Given the description of an element on the screen output the (x, y) to click on. 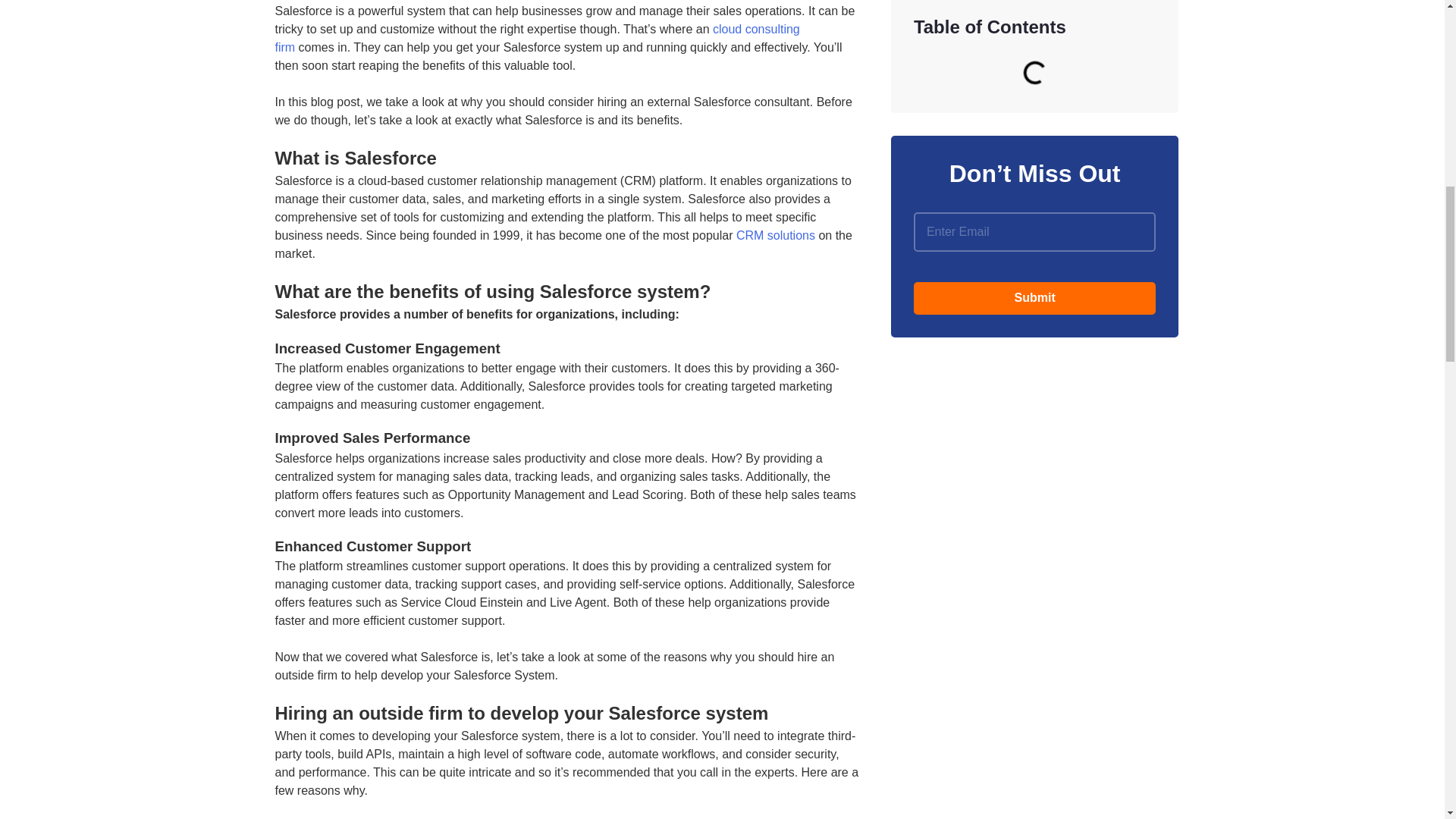
Submit (1035, 297)
